Given the description of an element on the screen output the (x, y) to click on. 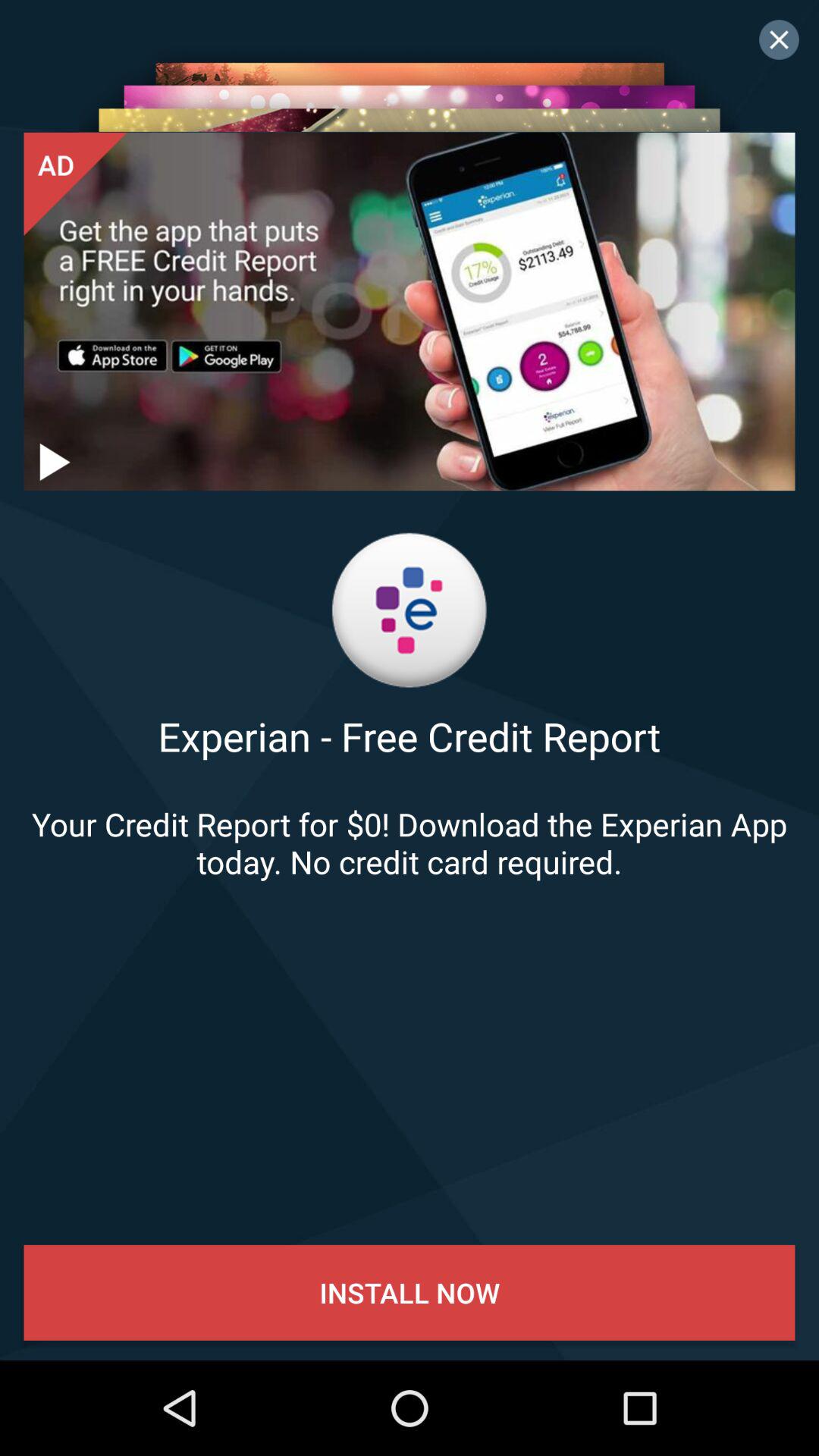
close screen (779, 39)
